Given the description of an element on the screen output the (x, y) to click on. 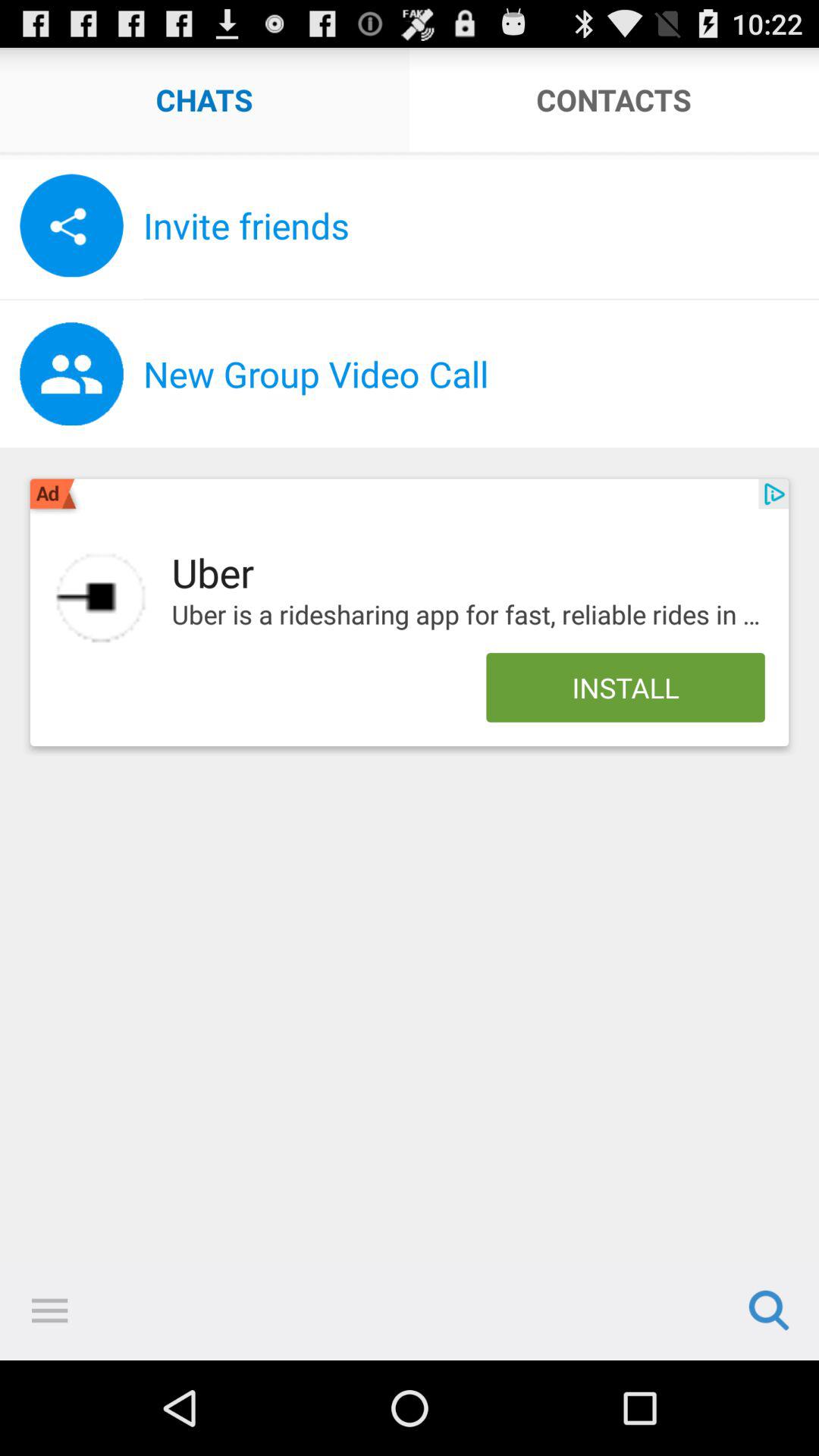
install app (100, 597)
